Given the description of an element on the screen output the (x, y) to click on. 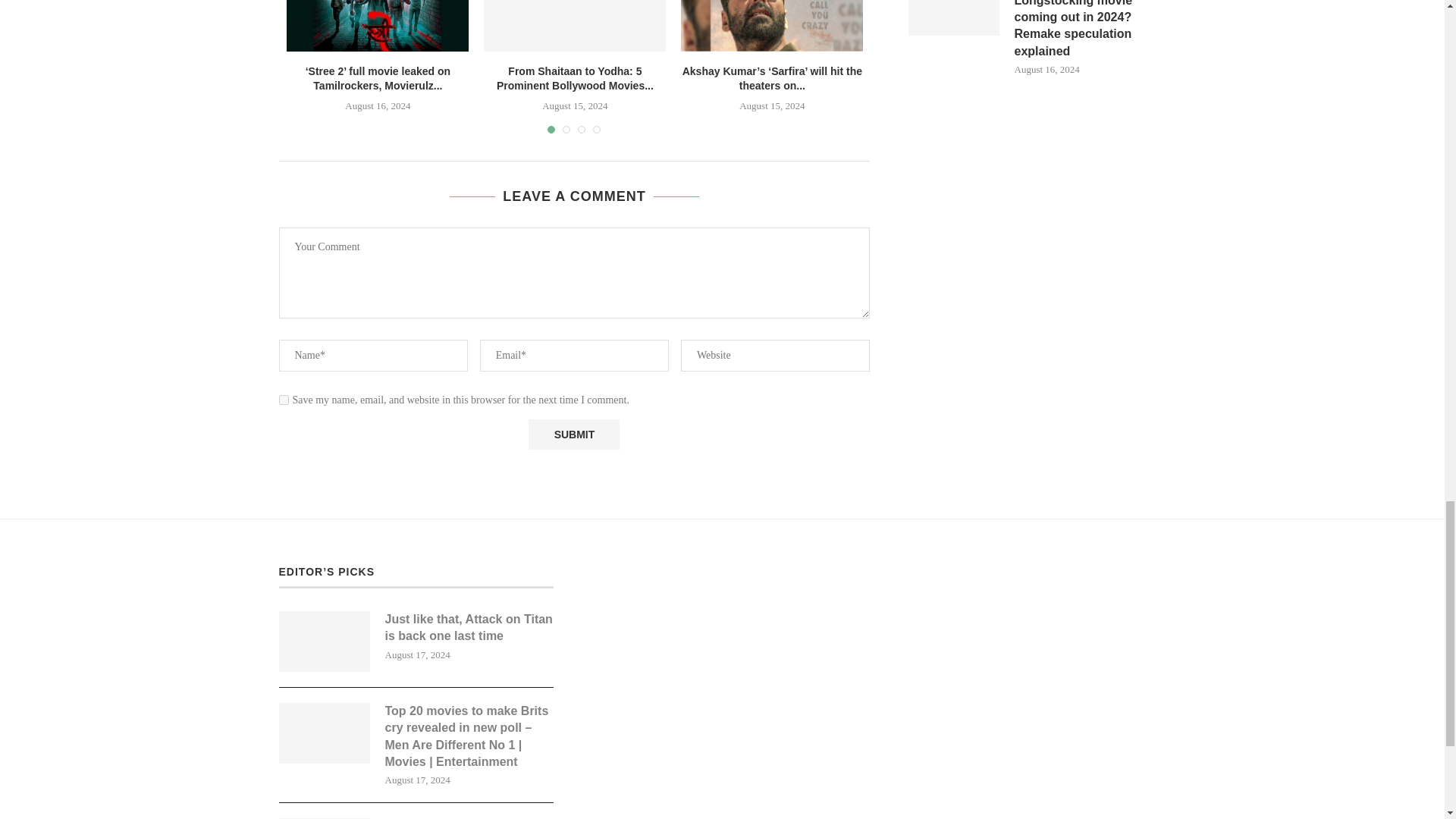
From Shaitaan to Yodha: 5 Prominent Bollywood Movies... (574, 78)
yes (283, 399)
Submit (574, 434)
